Given the description of an element on the screen output the (x, y) to click on. 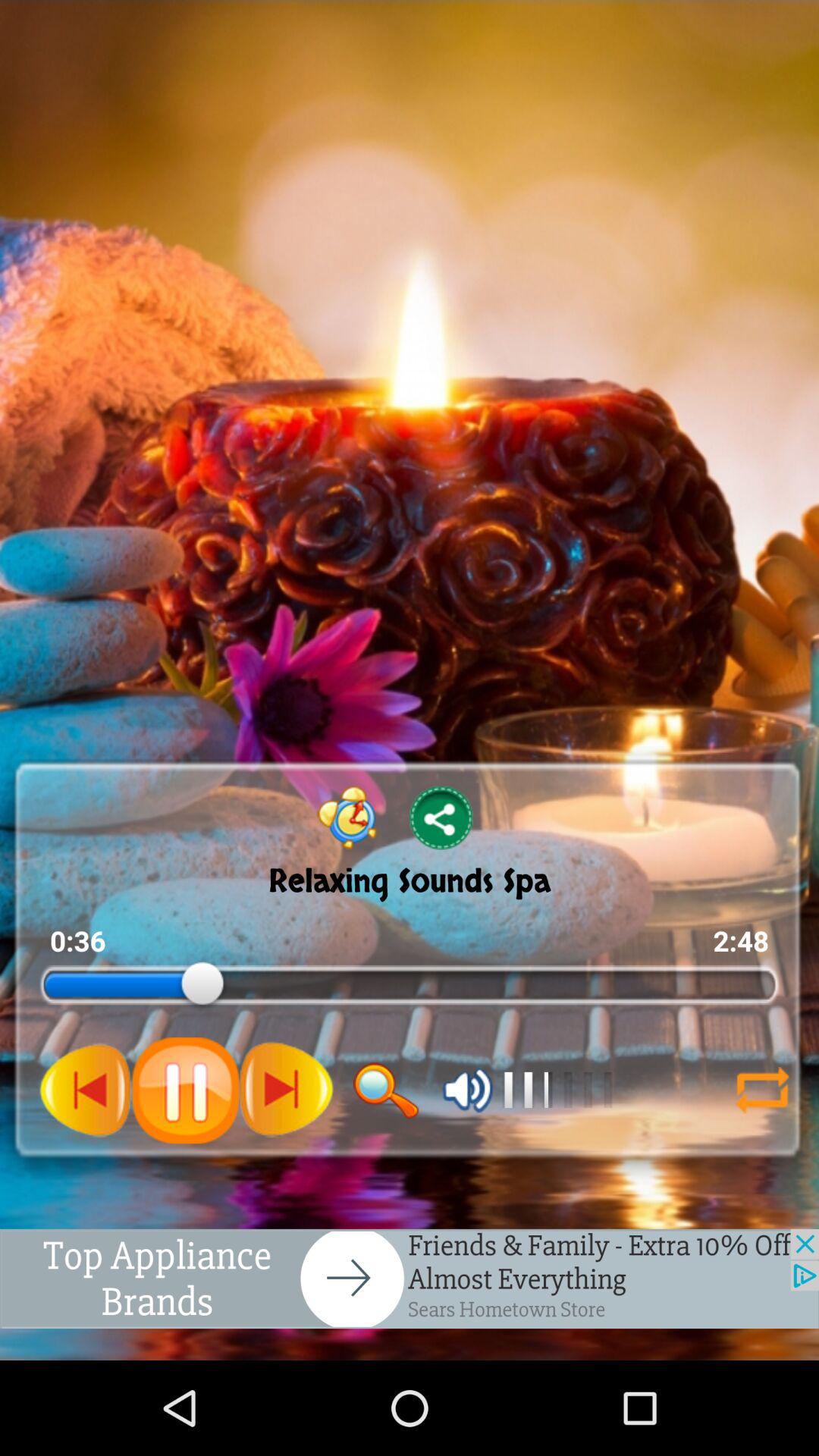
rotate (761, 1089)
